Given the description of an element on the screen output the (x, y) to click on. 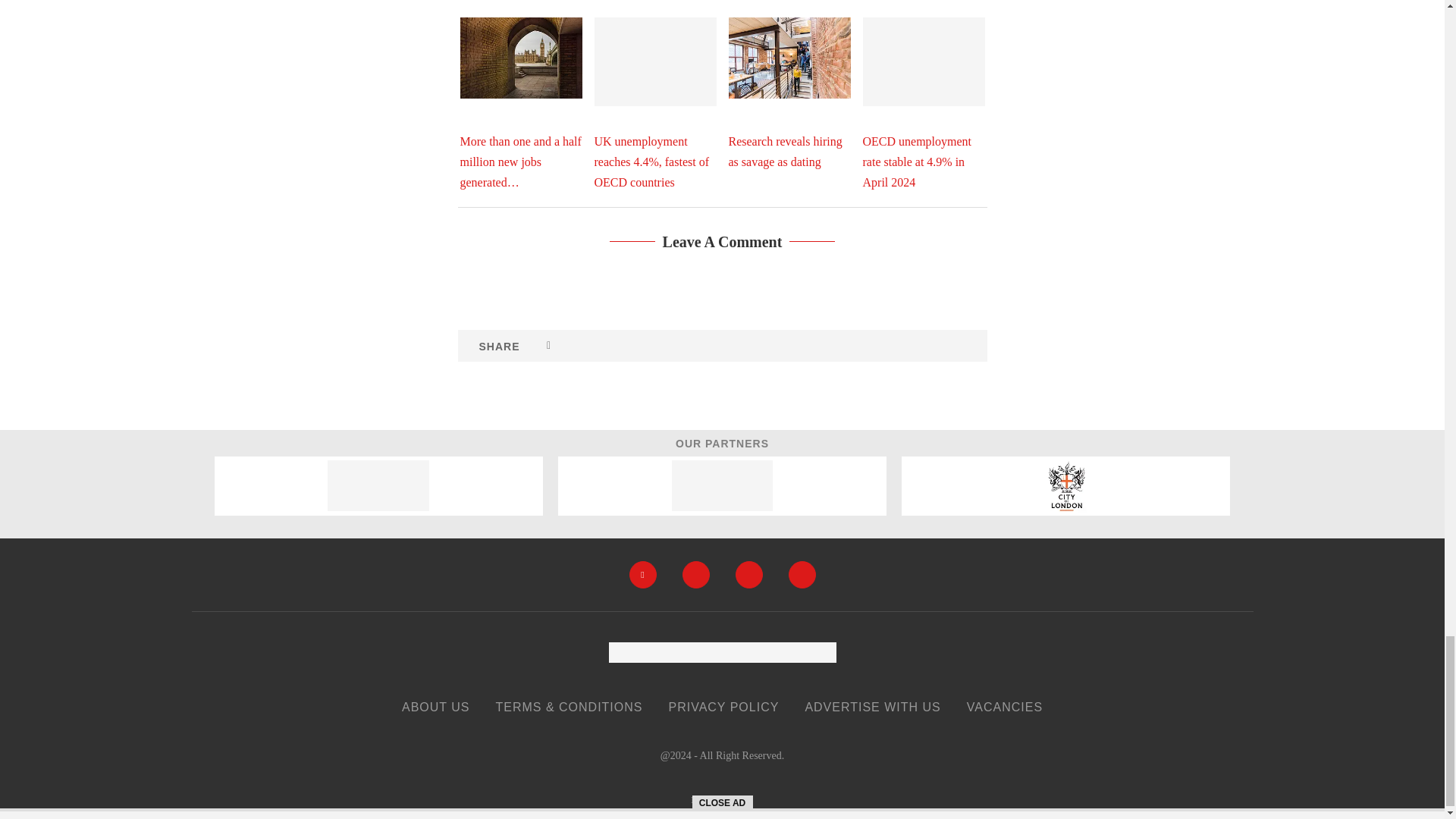
Research reveals hiring as savage as dating (789, 57)
